Given the description of an element on the screen output the (x, y) to click on. 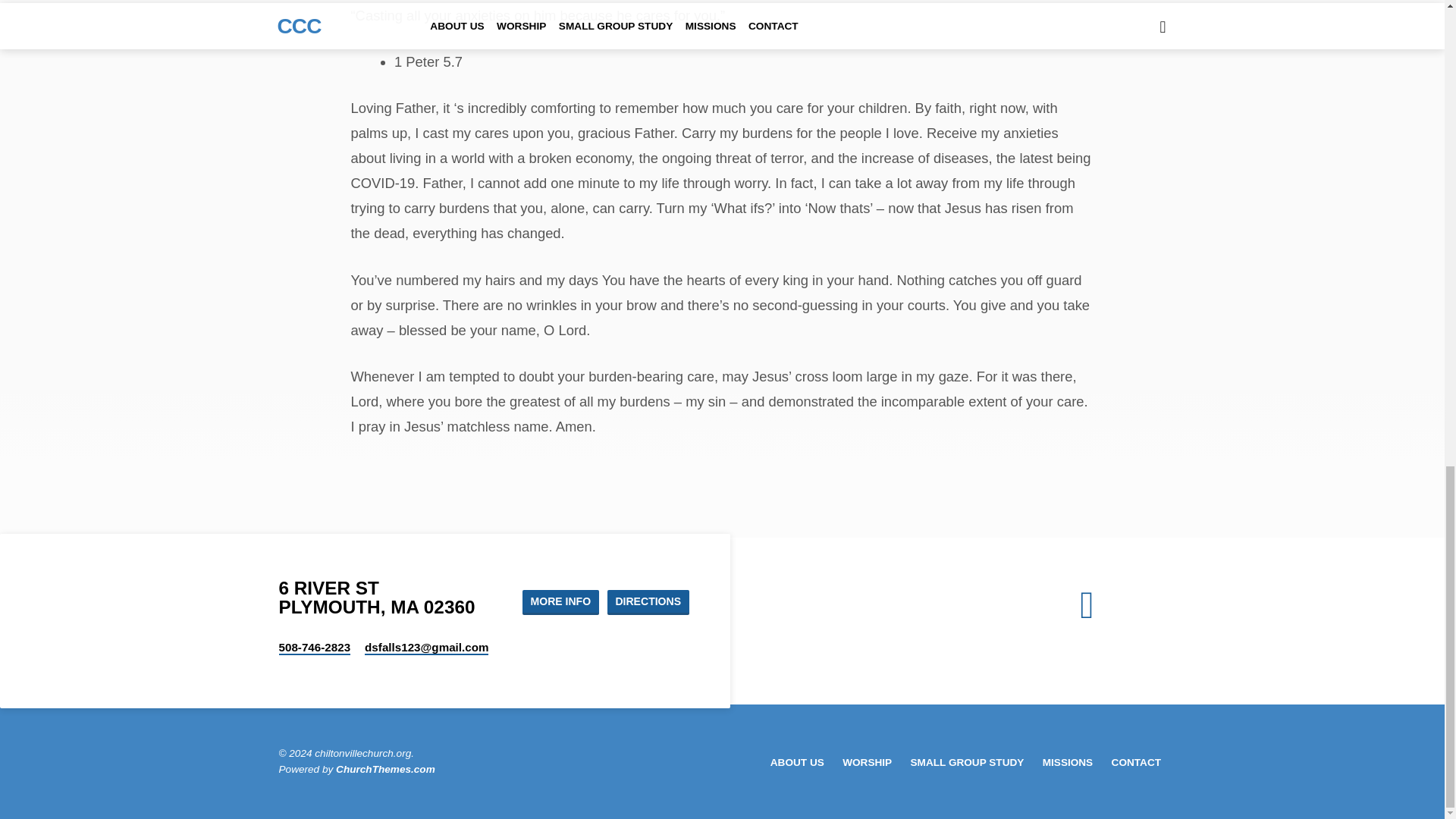
MISSIONS (1067, 762)
MORE INFO (560, 602)
WORSHIP (867, 762)
CONTACT (1136, 762)
SMALL GROUP STUDY (968, 762)
508-746-2823 (314, 647)
ChurchThemes.com (385, 768)
ABOUT US (797, 762)
DIRECTIONS (647, 602)
